Given the description of an element on the screen output the (x, y) to click on. 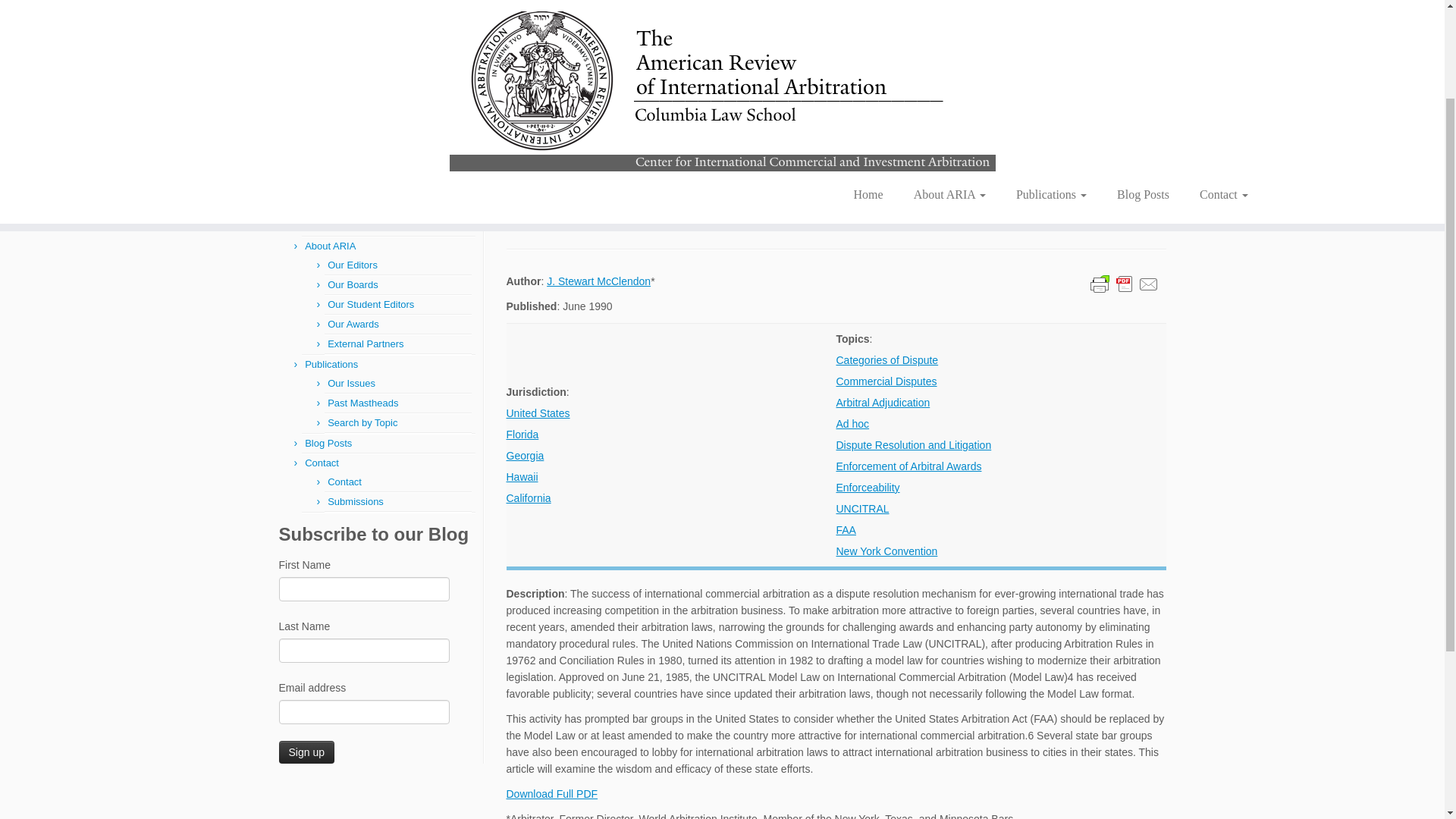
Blog Posts (328, 442)
Contact (344, 481)
Submissions (355, 501)
Home (317, 225)
About ARIA (949, 64)
Publications (1051, 64)
Blog Posts (1143, 64)
Issues (333, 128)
Home (868, 64)
Contact (1216, 64)
Issues (333, 128)
Our Editors (352, 265)
About ARIA (329, 245)
American Review of International Arbitration (293, 128)
